Given the description of an element on the screen output the (x, y) to click on. 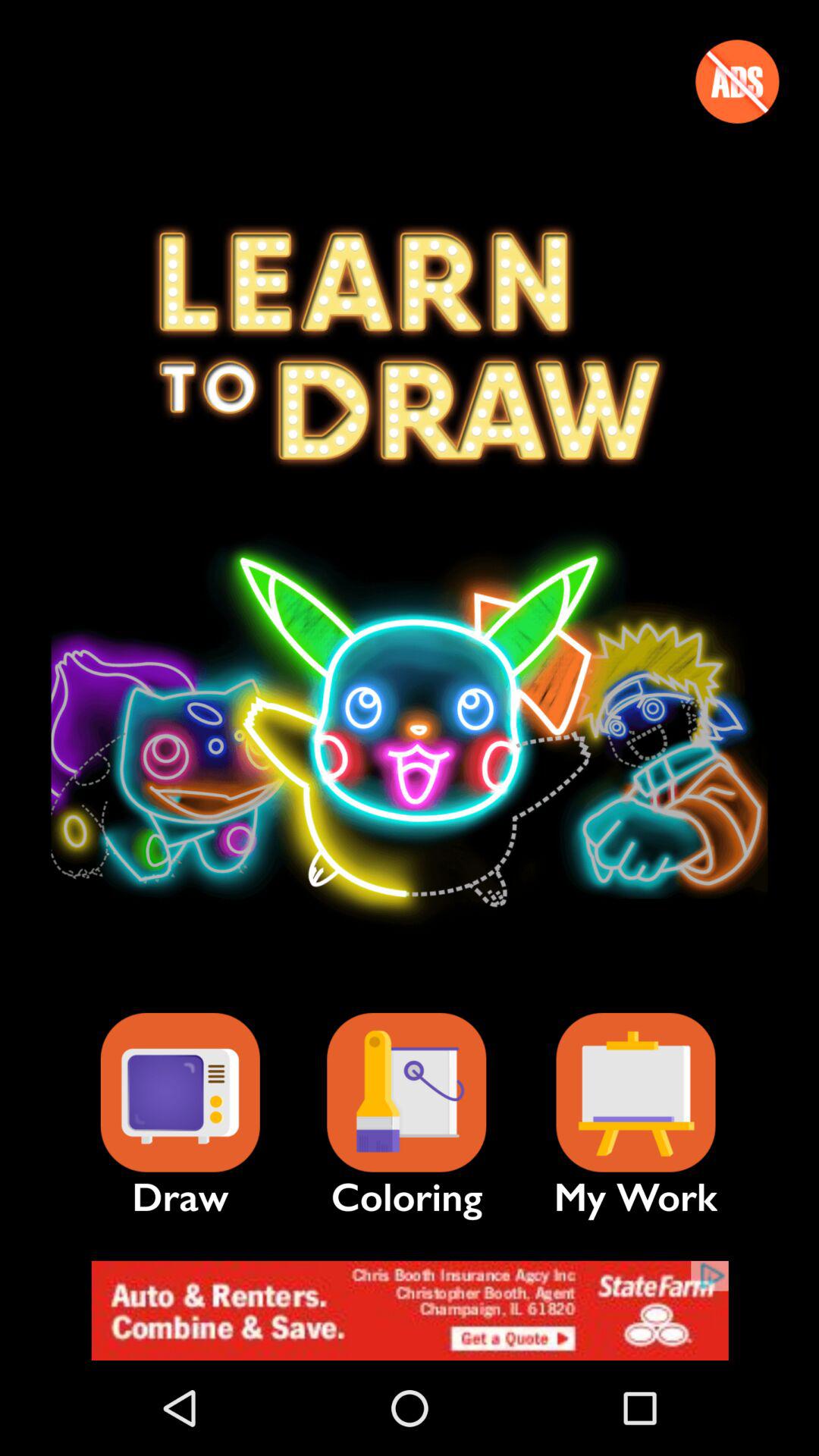
coloring (406, 1092)
